Given the description of an element on the screen output the (x, y) to click on. 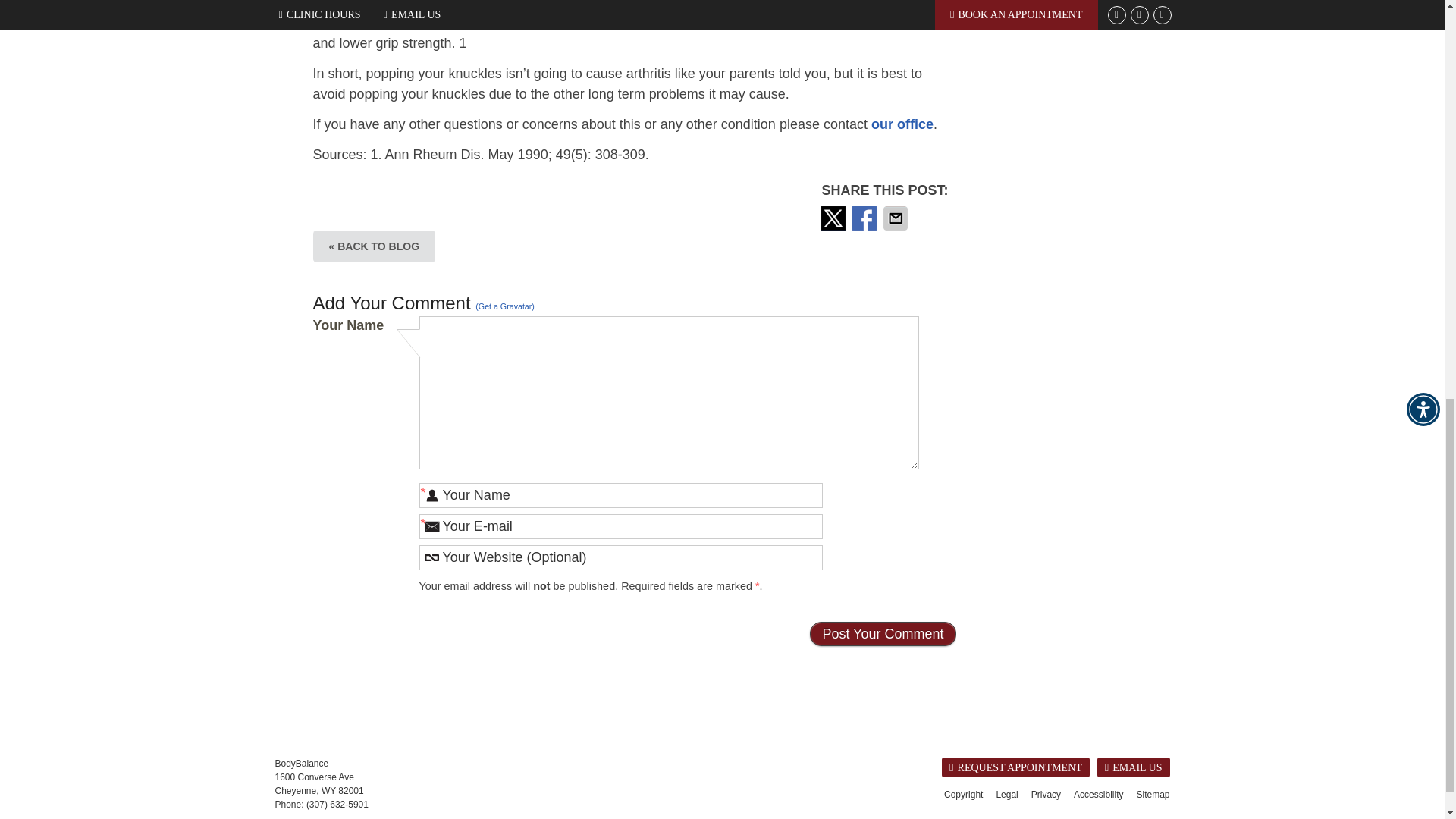
Share on Twitter (834, 218)
Post Your Comment (882, 633)
Your E-mail (620, 526)
Contact (1133, 767)
Share on Facebook (865, 218)
Your Name (620, 495)
Footer Links (1053, 793)
Your E-mail (620, 526)
Your Name (620, 495)
our office (901, 124)
Share via Email (897, 218)
